Given the description of an element on the screen output the (x, y) to click on. 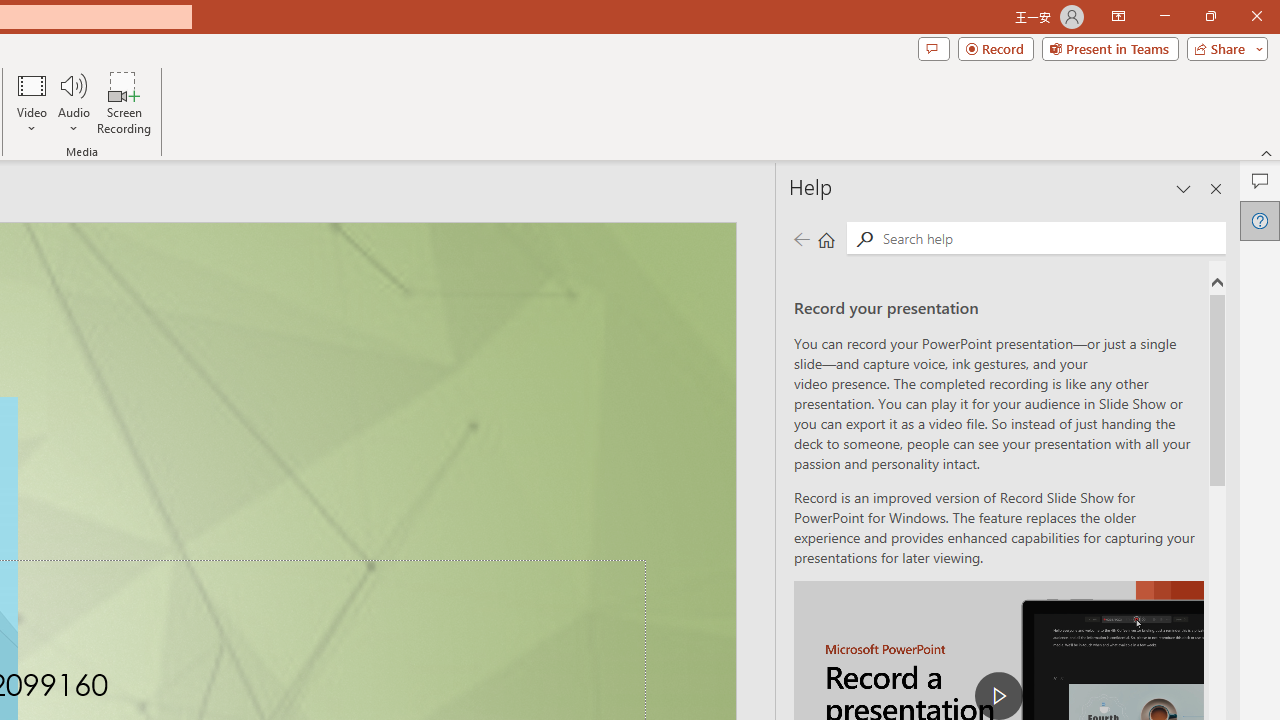
play Record a Presentation (998, 695)
Video (31, 102)
